Given the description of an element on the screen output the (x, y) to click on. 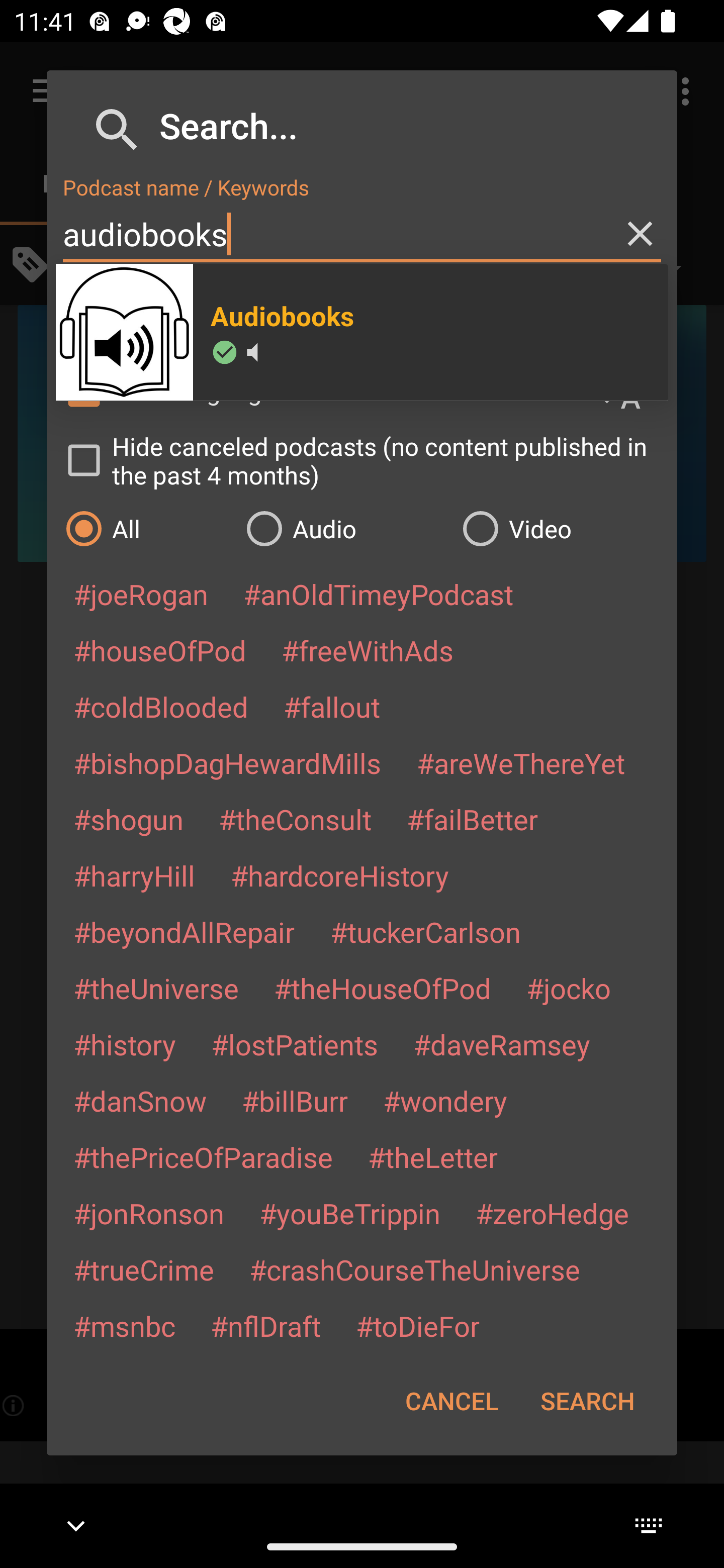
audiobooks (361, 234)
All (145, 528)
Audio (344, 528)
Video (560, 528)
#joeRogan (140, 594)
#anOldTimeyPodcast (378, 594)
#houseOfPod (159, 650)
#freeWithAds (367, 650)
#coldBlooded (160, 705)
#fallout (331, 705)
#bishopDagHewardMills (227, 762)
#areWeThereYet (521, 762)
#shogun (128, 818)
#theConsult (294, 818)
#failBetter (471, 818)
#harryHill (134, 875)
#hardcoreHistory (339, 875)
#beyondAllRepair (184, 931)
#tuckerCarlson (425, 931)
#theUniverse (155, 987)
#theHouseOfPod (381, 987)
#jocko (568, 987)
#history (124, 1044)
#lostPatients (294, 1044)
#daveRamsey (501, 1044)
#danSnow (139, 1100)
#billBurr (294, 1100)
#wondery (444, 1100)
#thePriceOfParadise (203, 1157)
#theLetter (432, 1157)
#jonRonson (148, 1213)
#youBeTrippin (349, 1213)
#zeroHedge (552, 1213)
#trueCrime (143, 1268)
#crashCourseTheUniverse (414, 1268)
#msnbc (124, 1325)
#nflDraft (265, 1325)
#toDieFor (417, 1325)
CANCEL (451, 1400)
SEARCH (587, 1400)
